Given the description of an element on the screen output the (x, y) to click on. 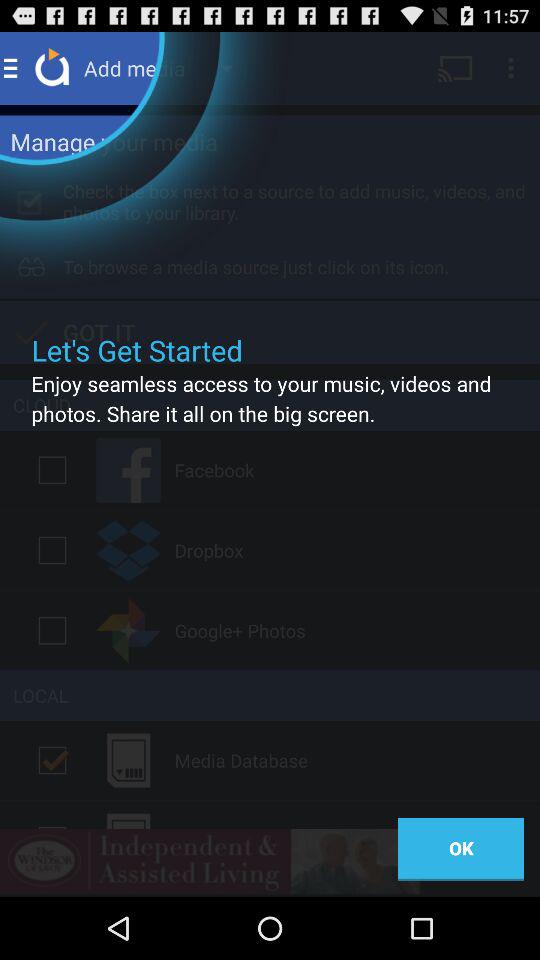
toggle option on or off (52, 630)
